Given the description of an element on the screen output the (x, y) to click on. 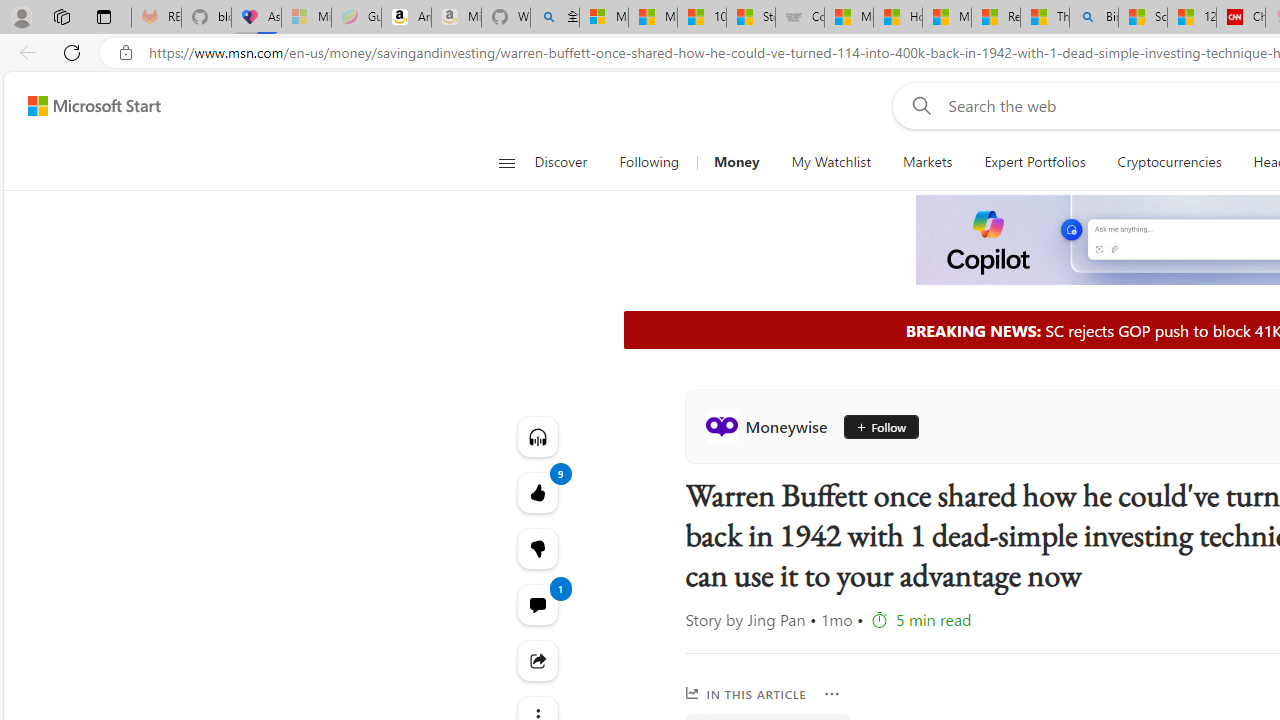
View comments 1 Comment (537, 604)
Skip to content (86, 105)
Skip to footer (82, 105)
Expert Portfolios (1034, 162)
Stocks - MSN (750, 17)
My Watchlist (830, 162)
Moneywise (770, 426)
Money (736, 162)
Money (736, 162)
Follow (873, 426)
